Given the description of an element on the screen output the (x, y) to click on. 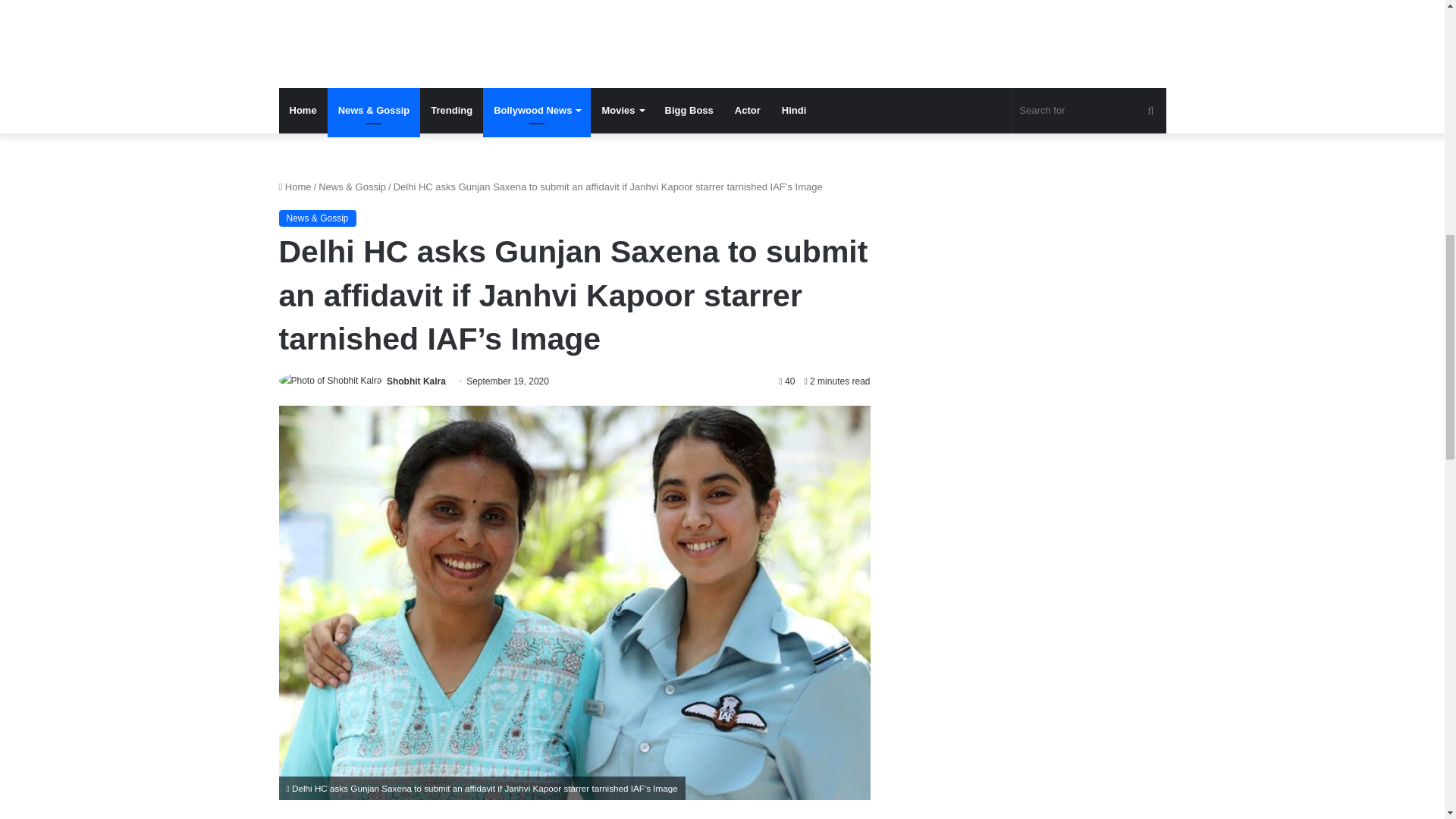
Trending (451, 110)
Shobhit Kalra (416, 380)
Bollywood News (537, 110)
Hindi (793, 110)
Search for (1088, 110)
Actor (747, 110)
Shobhit Kalra (416, 380)
Home (303, 110)
Filmymantra (688, 28)
Bigg Boss (688, 110)
